Given the description of an element on the screen output the (x, y) to click on. 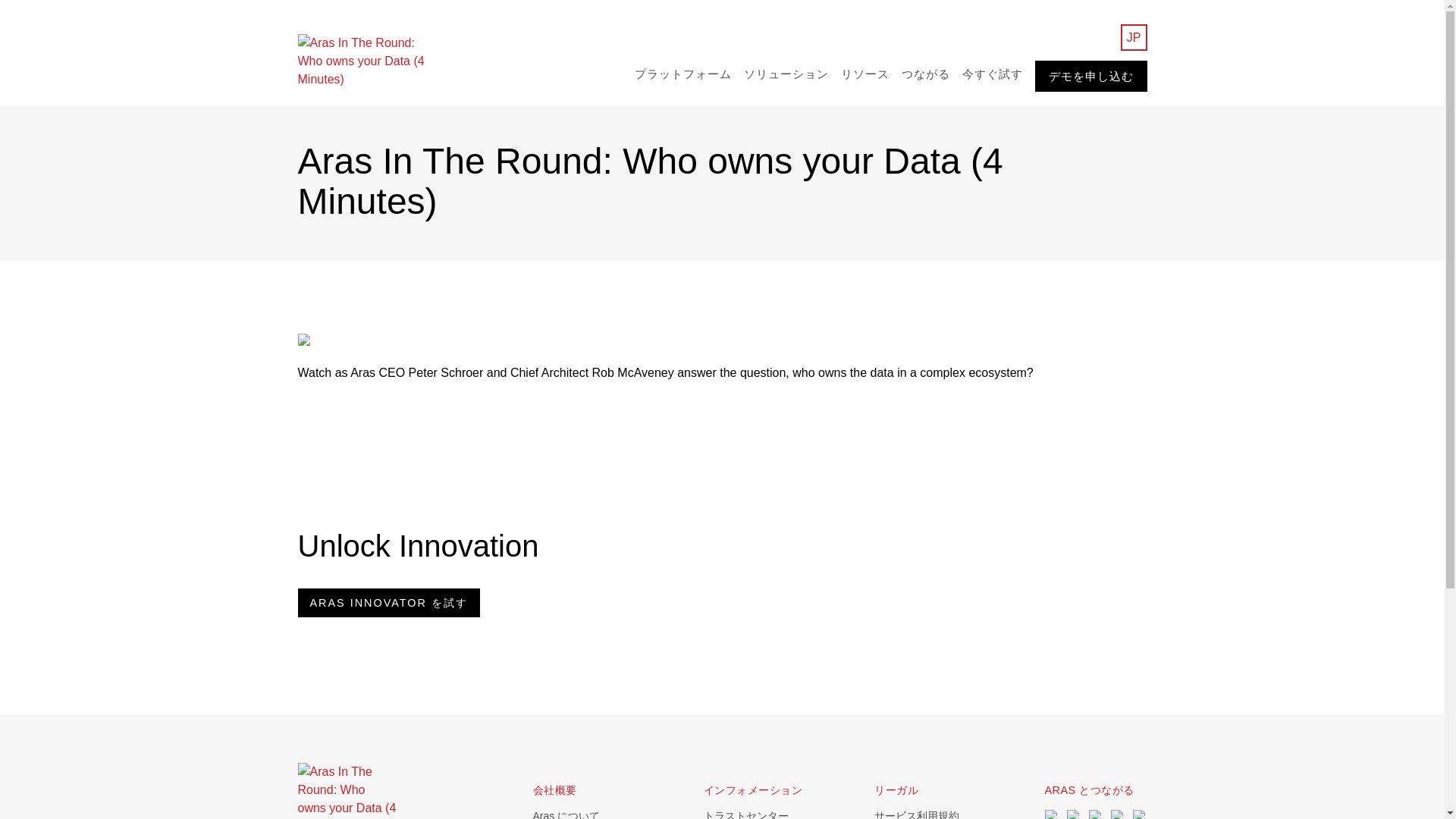
Search for: (1098, 36)
